Given the description of an element on the screen output the (x, y) to click on. 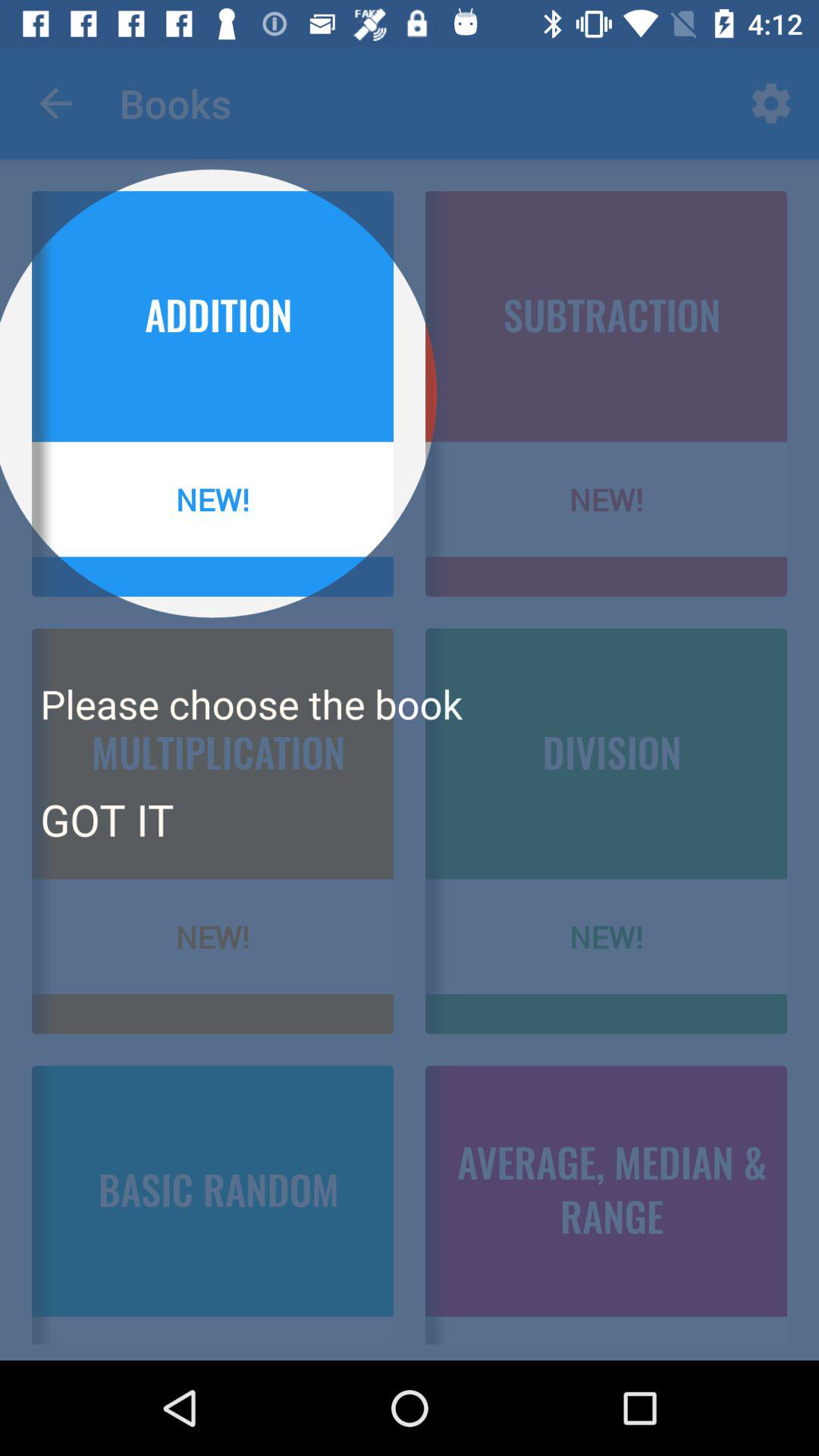
jump to got it icon (107, 819)
